Given the description of an element on the screen output the (x, y) to click on. 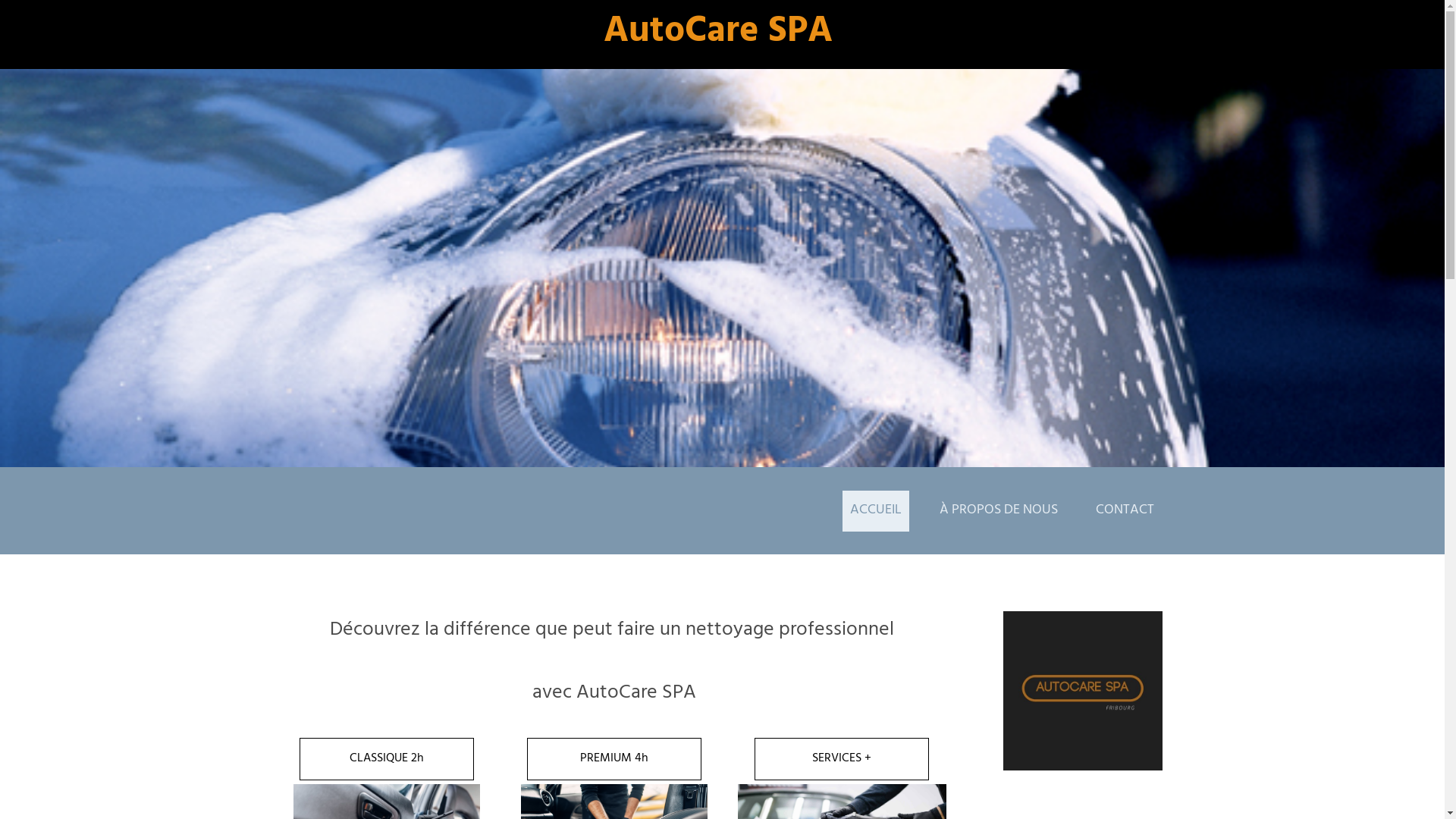
ACCUEIL Element type: text (875, 510)
PREMIUM 4h Element type: text (614, 758)
  Element type: text (354, 511)
SERVICES + Element type: text (841, 758)
CONTACT Element type: text (1124, 510)
CLASSIQUE 2h Element type: text (386, 758)
